Given the description of an element on the screen output the (x, y) to click on. 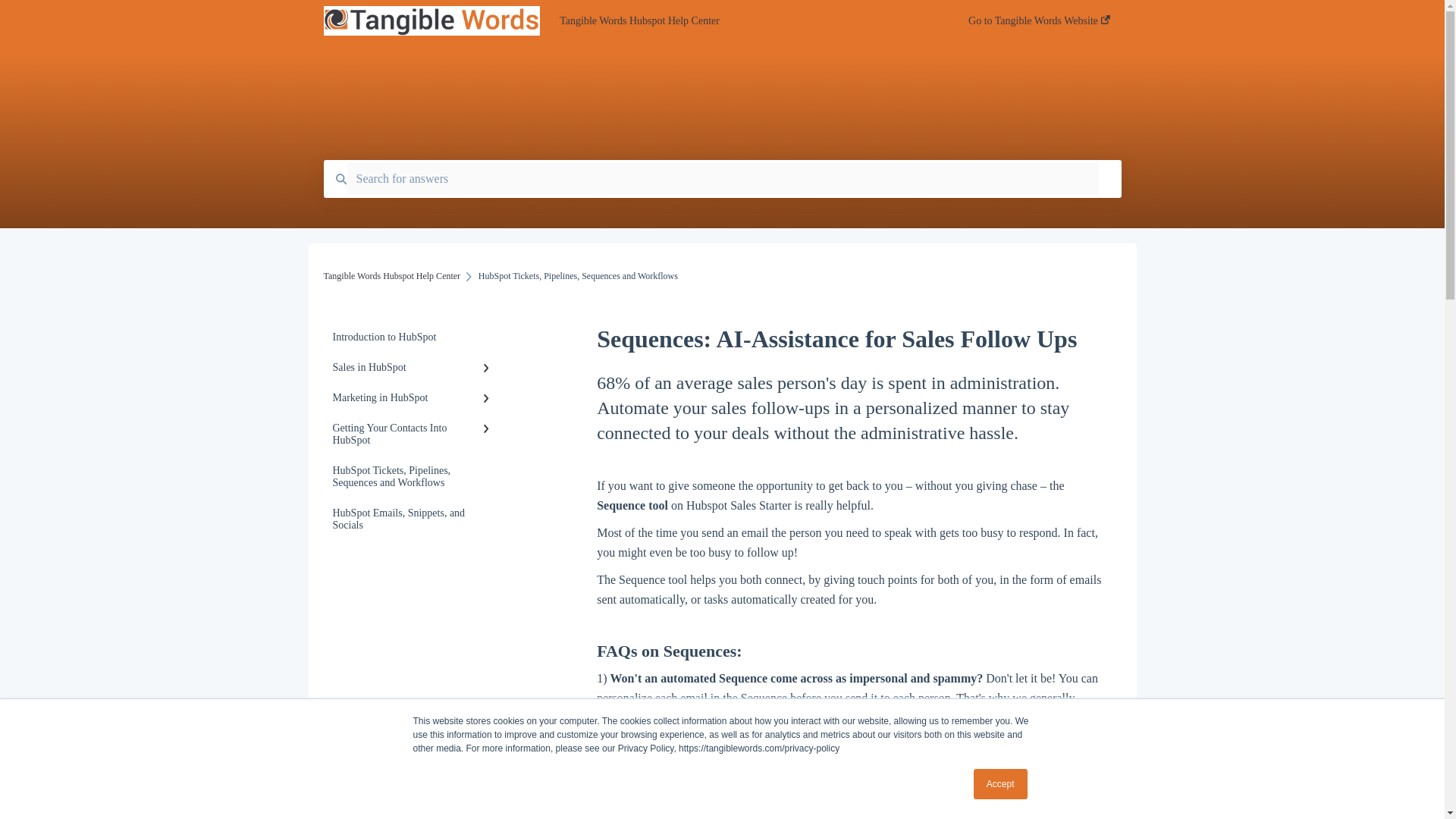
Tangible Words Hubspot Help Center (741, 21)
Introduction to HubSpot (414, 337)
HubSpot Emails, Snippets, and Socials (414, 518)
Marketing in HubSpot (414, 398)
Accept (1000, 784)
not to batch enrol (700, 717)
Getting Your Contacts Into HubSpot (414, 434)
Sales in HubSpot (414, 367)
Go to Tangible Words Website (1038, 25)
HubSpot Tickets, Pipelines, Sequences and Workflows (414, 476)
